Given the description of an element on the screen output the (x, y) to click on. 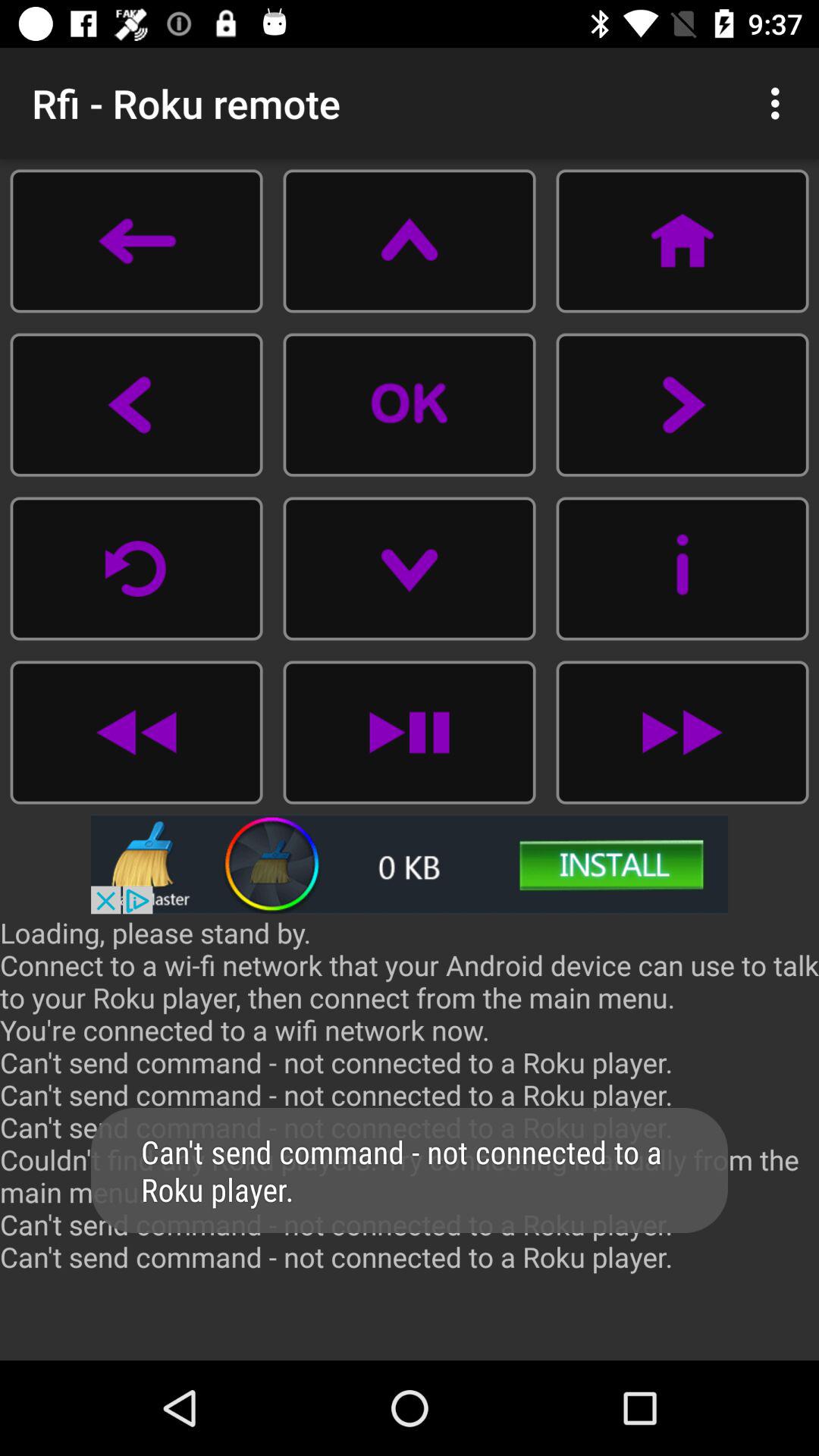
check to pay option (136, 732)
